Given the description of an element on the screen output the (x, y) to click on. 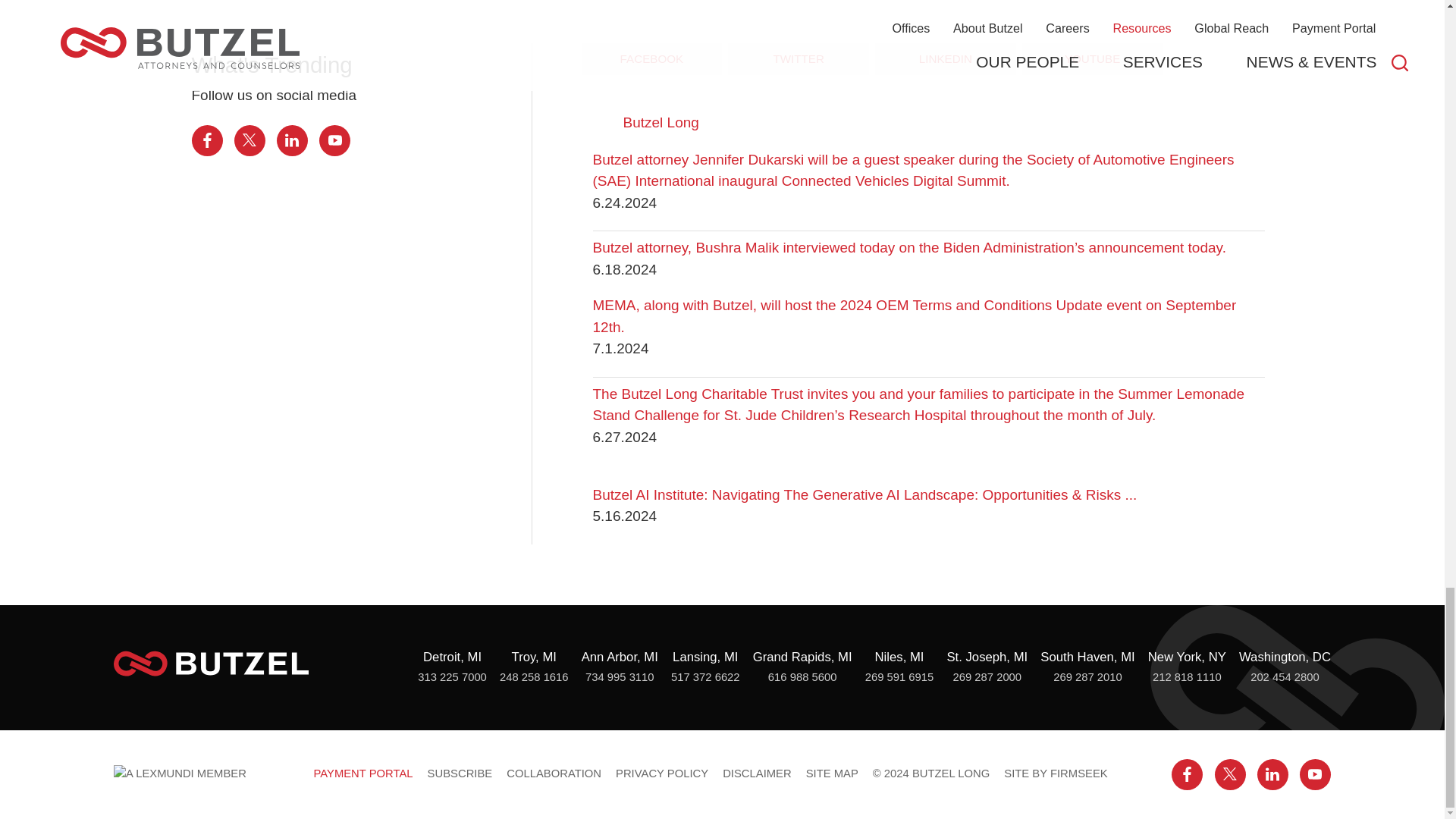
X (1230, 774)
Facebook (206, 140)
LinkedIn (1272, 774)
YouTube (1315, 774)
Butzel Long (210, 663)
X (249, 140)
YouTube (334, 140)
Facebook (1187, 774)
LinkedIn (291, 140)
